Given the description of an element on the screen output the (x, y) to click on. 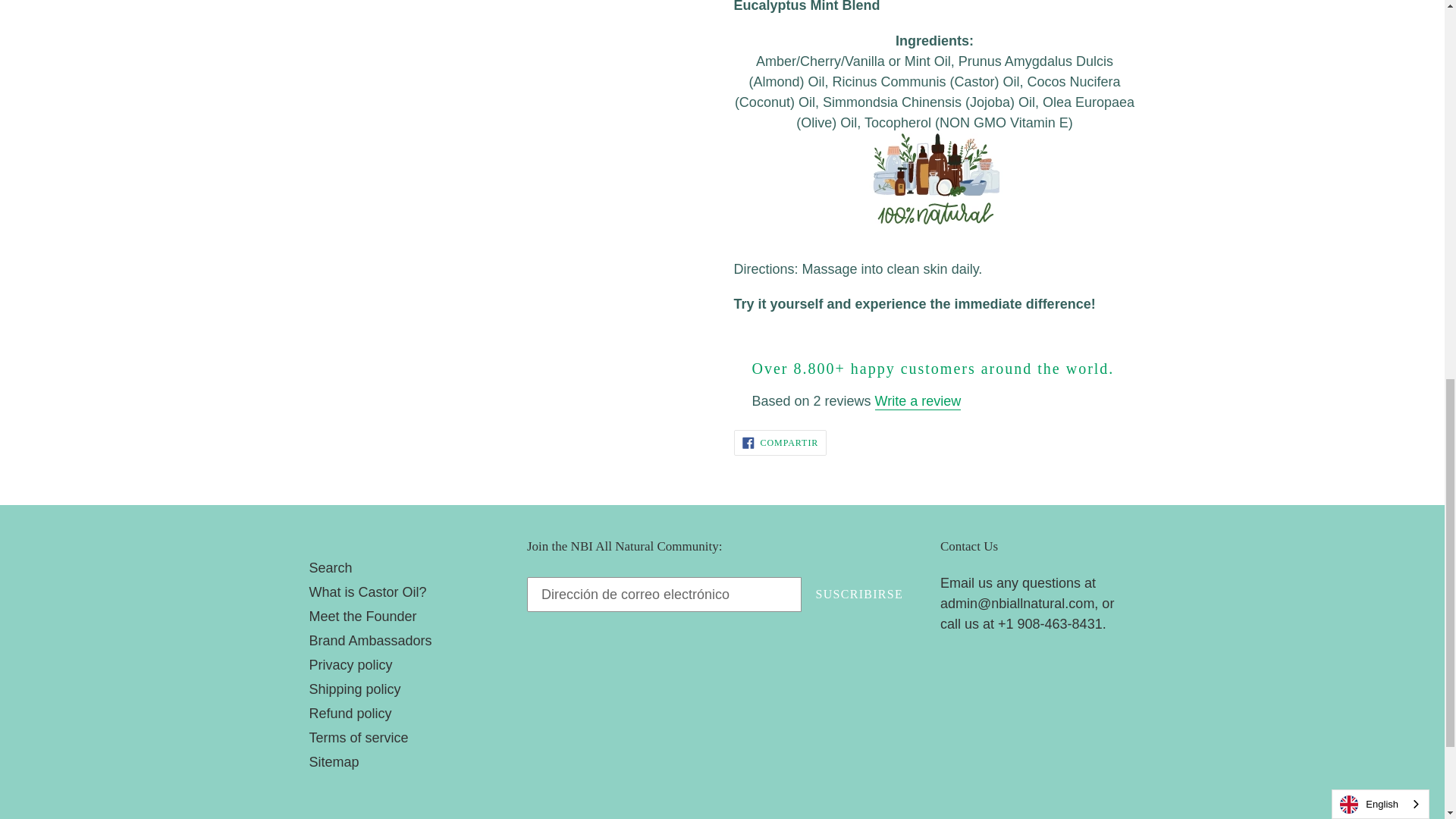
Brand Ambassadors (370, 640)
Write a review (917, 401)
Search (330, 567)
Meet the Founder (780, 442)
What is Castor Oil? (362, 616)
